Given the description of an element on the screen output the (x, y) to click on. 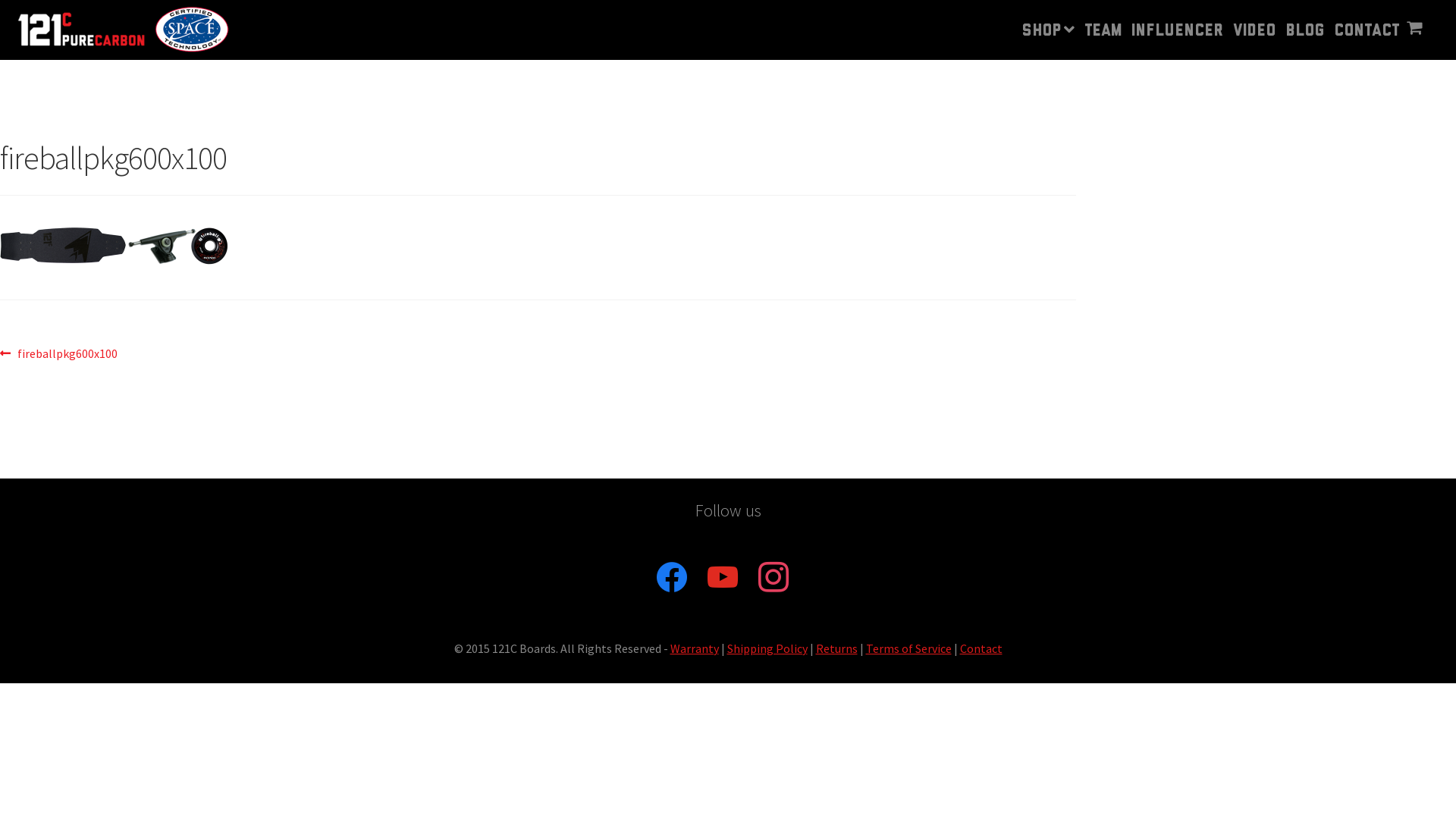
Previous post:
fireballpkg600x100 Element type: text (58, 354)
Blog Element type: text (1303, 23)
facebook Element type: text (671, 575)
Returns Element type: text (836, 647)
Shop Element type: text (1046, 22)
instagram Element type: text (773, 575)
Team Element type: text (1101, 23)
Contact Element type: text (1365, 23)
Video Element type: text (1253, 23)
Shipping Policy Element type: text (766, 647)
View your shopping cart Element type: hover (1404, 32)
Contact Element type: text (981, 647)
Influencer Element type: text (1176, 23)
Terms of Service Element type: text (908, 647)
youtube Element type: text (722, 575)
Warranty Element type: text (694, 647)
